Given the description of an element on the screen output the (x, y) to click on. 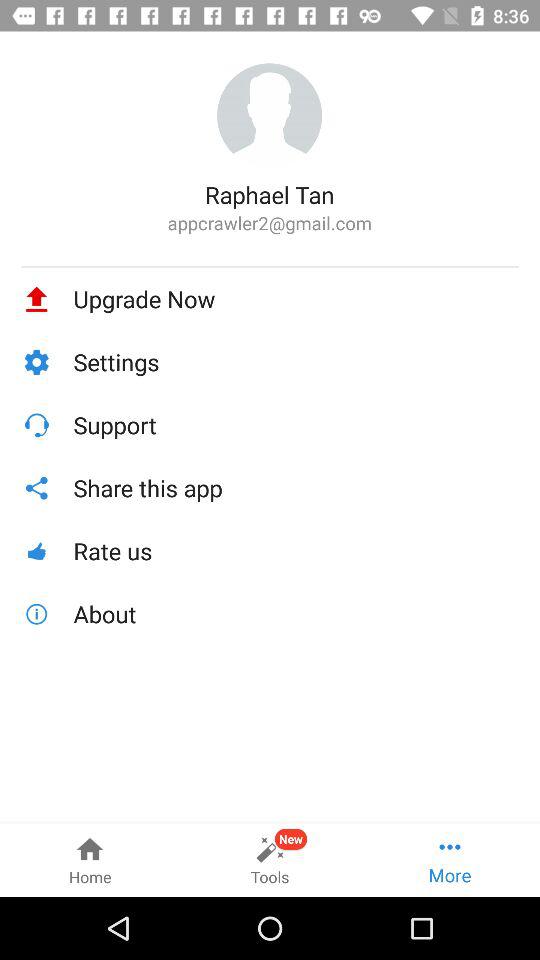
select about (296, 614)
